Given the description of an element on the screen output the (x, y) to click on. 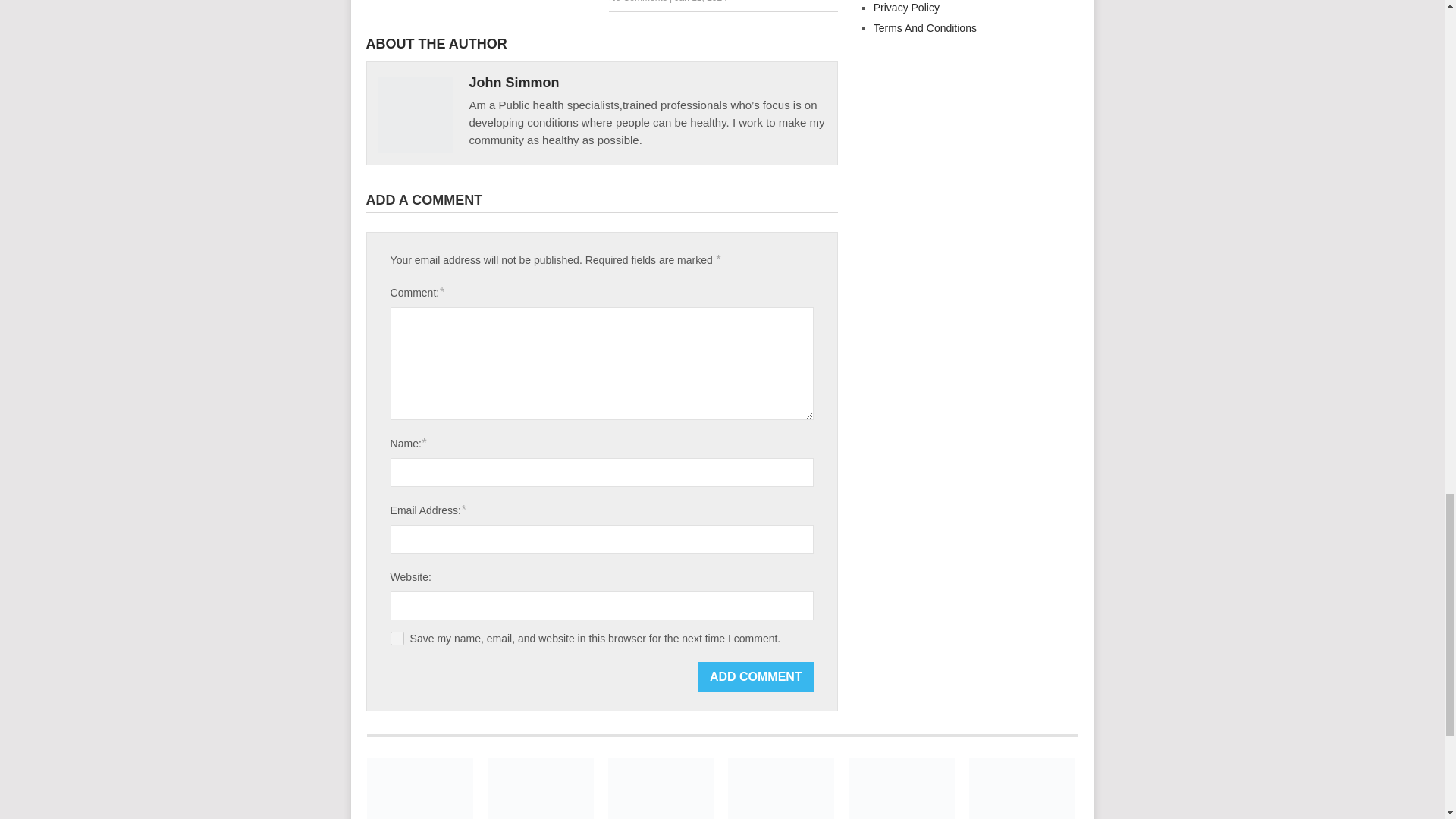
Add Comment (755, 676)
No Comments (637, 1)
yes (397, 638)
Add Comment (755, 676)
